Given the description of an element on the screen output the (x, y) to click on. 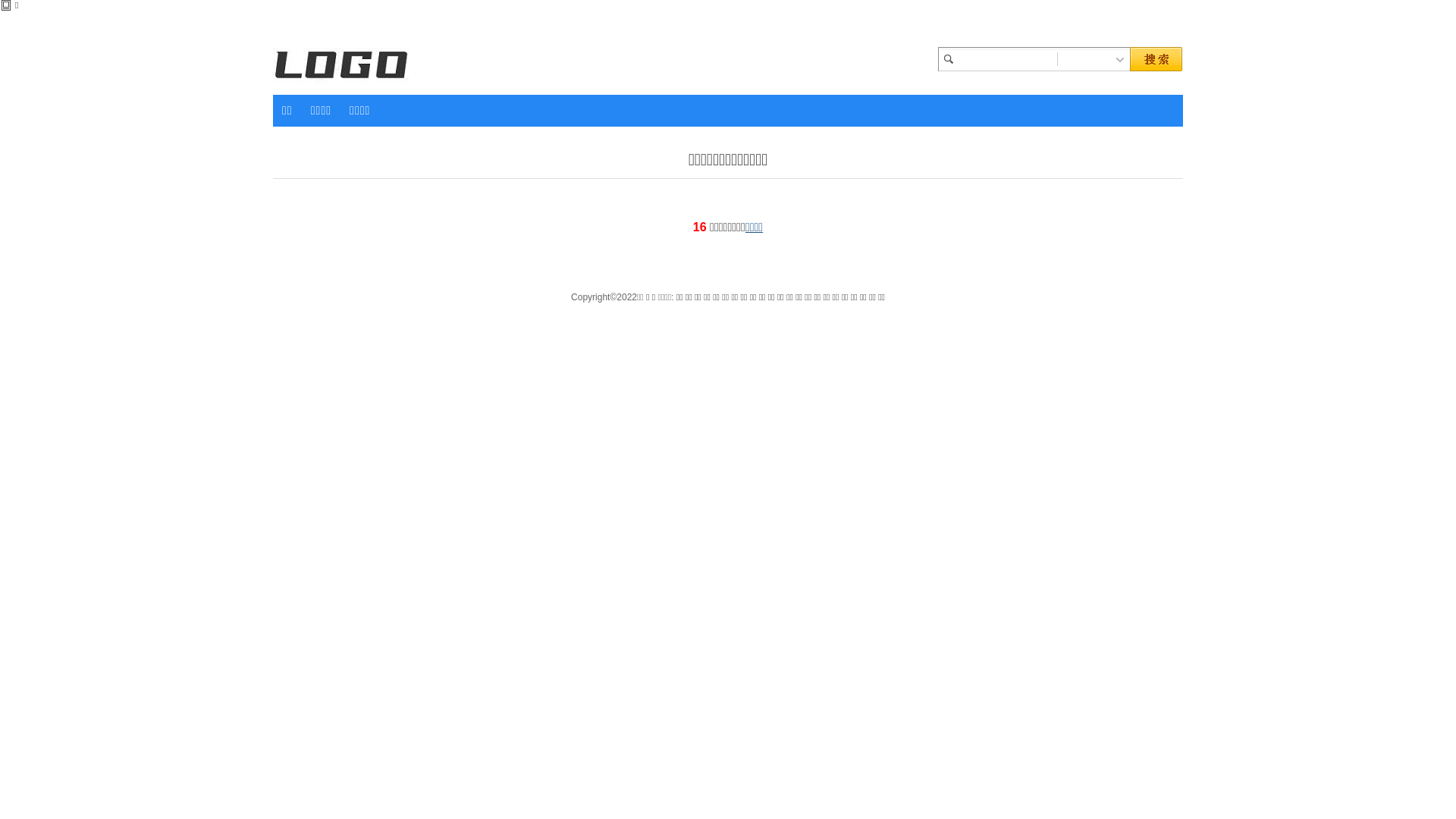
  Element type: text (1119, 59)
